Given the description of an element on the screen output the (x, y) to click on. 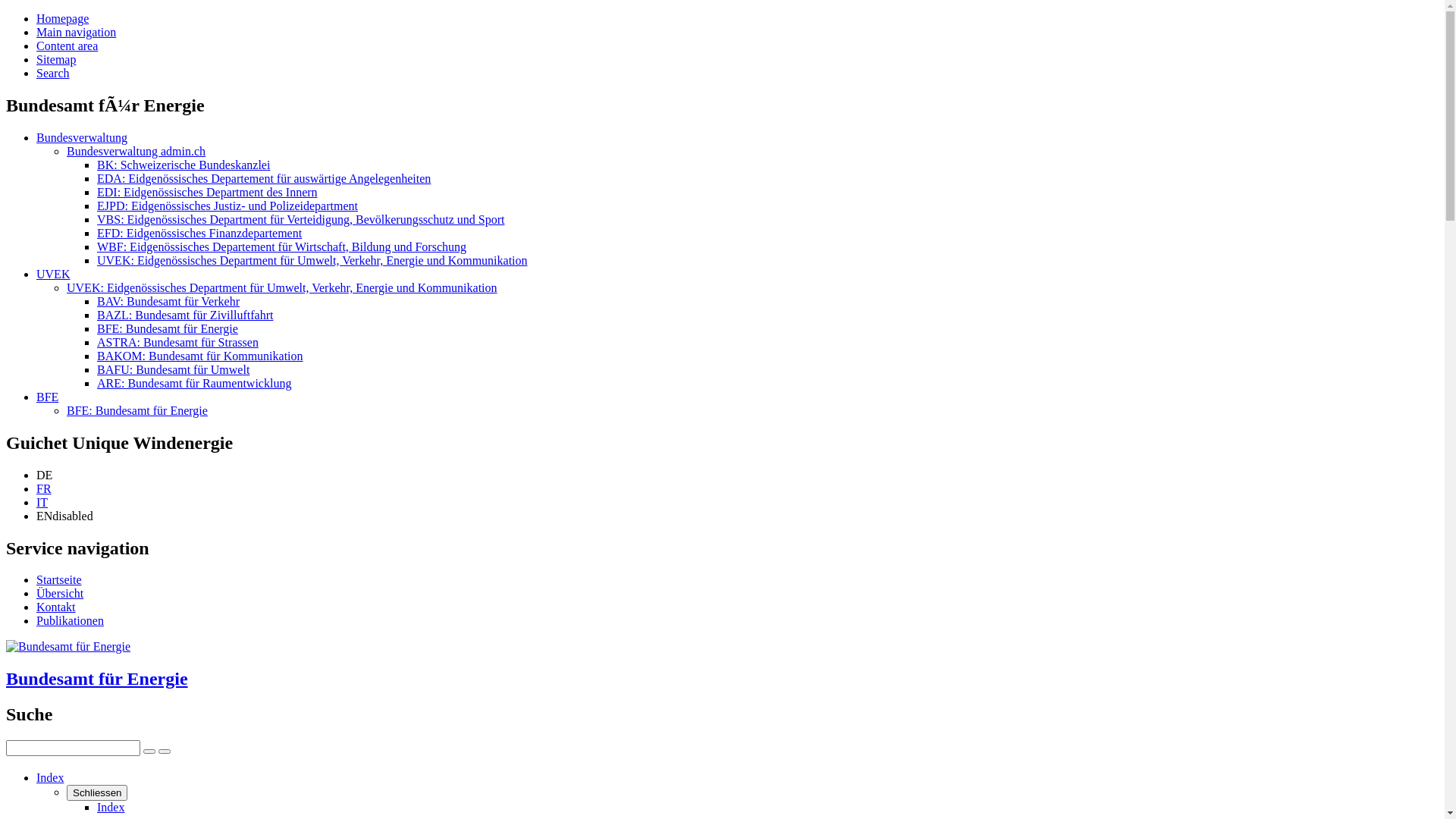
Publikationen Element type: text (69, 620)
Schliessen Element type: text (96, 792)
ENdisabled Element type: text (64, 515)
Bundesverwaltung Element type: text (81, 137)
Bundesverwaltung admin.ch Element type: text (135, 150)
BK: Schweizerische Bundeskanzlei Element type: text (183, 164)
UVEK Element type: text (52, 273)
Content area Element type: text (66, 45)
IT Element type: text (41, 501)
Index Element type: text (110, 806)
Startseite Element type: text (58, 579)
Search Element type: text (52, 72)
Homepage Element type: text (62, 18)
BFE Element type: text (47, 396)
Main navigation Element type: text (76, 31)
Kontakt Element type: text (55, 606)
DE Element type: text (44, 474)
Sitemap Element type: text (55, 59)
FR Element type: text (43, 488)
Index Element type: text (49, 777)
